Given the description of an element on the screen output the (x, y) to click on. 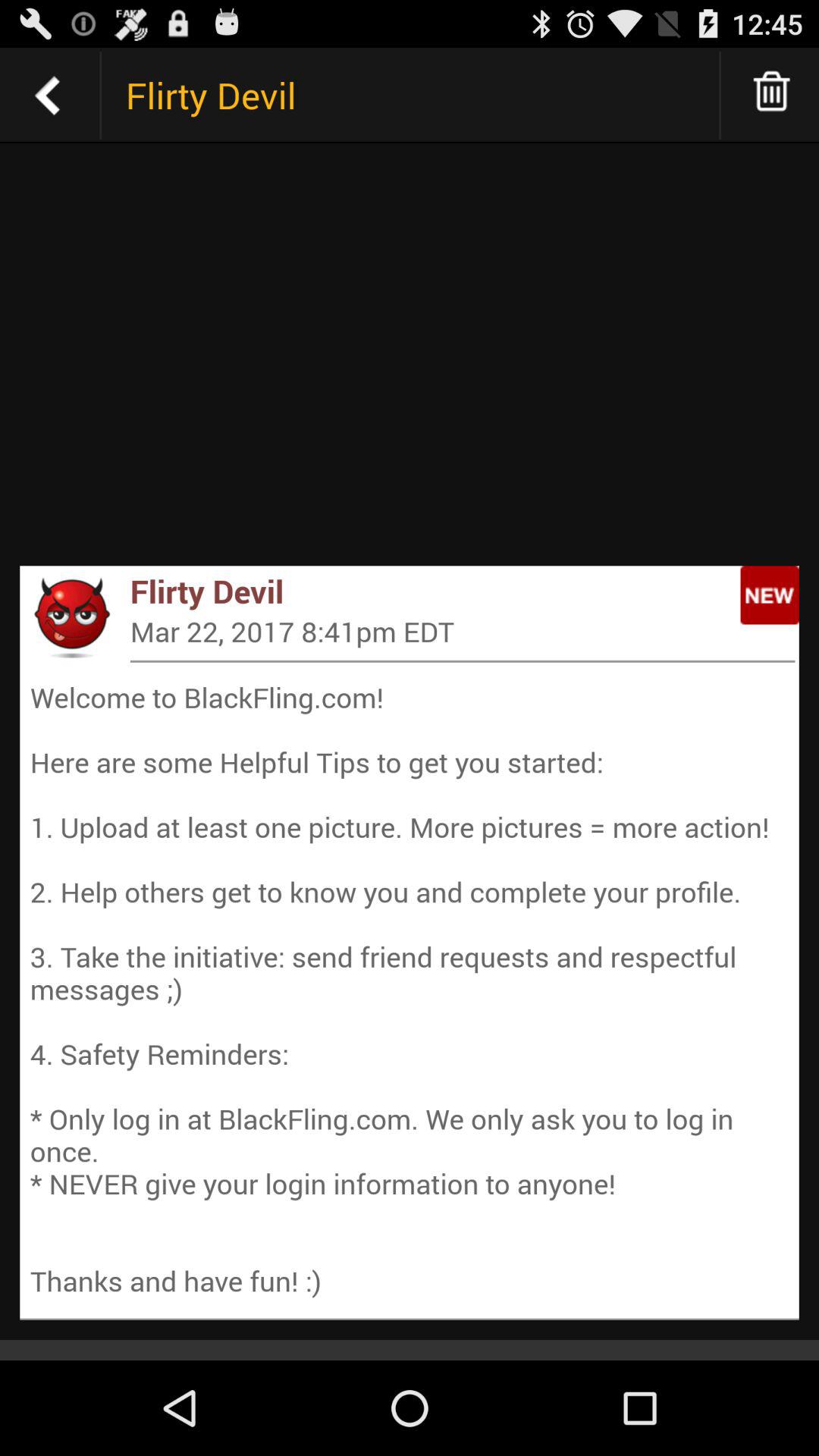
press the icon below the mar 22 2017 icon (462, 661)
